Given the description of an element on the screen output the (x, y) to click on. 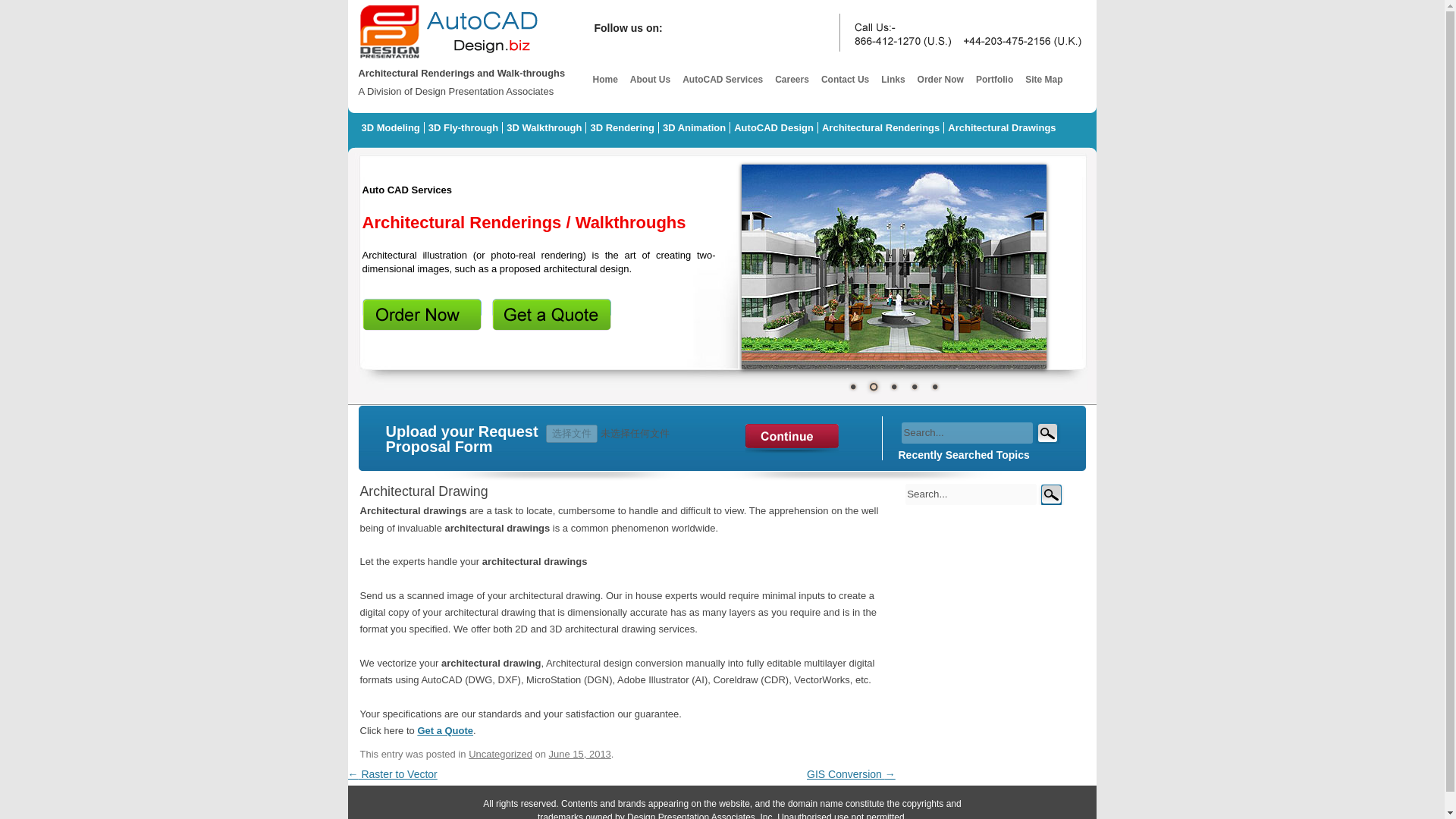
Portfolio (994, 79)
Get a Quote (444, 730)
Site Map (1043, 79)
Architectural Drawings (1001, 127)
Recently Searched Topics (963, 454)
About Us (650, 79)
Architectural Renderings and Walk-throughs (449, 59)
3D Rendering (622, 127)
6:43 am (579, 754)
Search... (970, 494)
Home (604, 79)
June 15, 2013 (579, 754)
Search... (970, 494)
Search... (966, 432)
3 (893, 386)
